Given the description of an element on the screen output the (x, y) to click on. 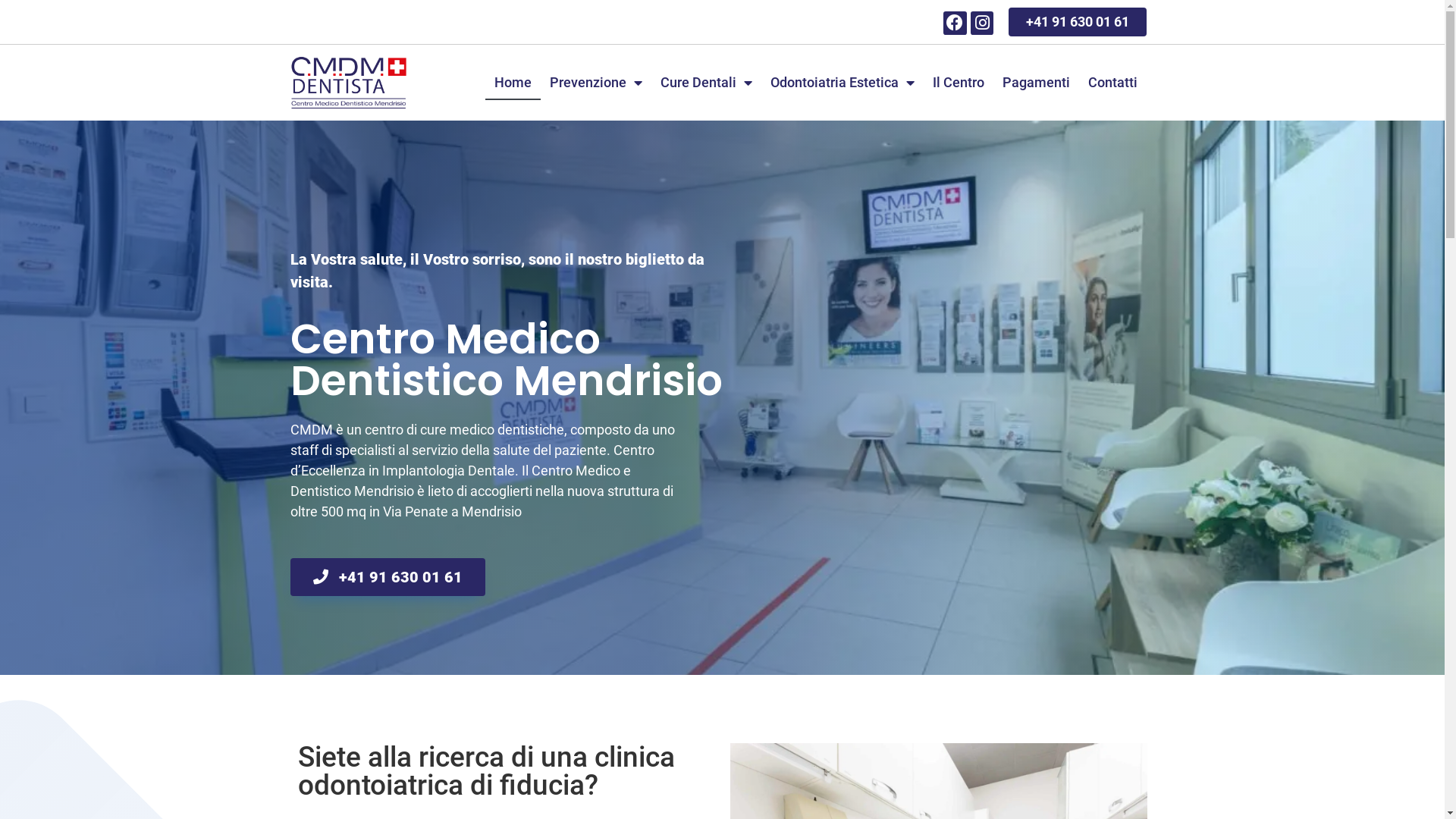
Contatti Element type: text (1112, 82)
Il Centro Element type: text (958, 82)
Pagamenti Element type: text (1036, 82)
Cure Dentali Element type: text (706, 82)
+41 91 630 01 61 Element type: text (386, 577)
Prevenzione Element type: text (595, 82)
Odontoiatria Estetica Element type: text (842, 82)
+41 91 630 01 61 Element type: text (1077, 21)
Home Element type: text (512, 82)
